Given the description of an element on the screen output the (x, y) to click on. 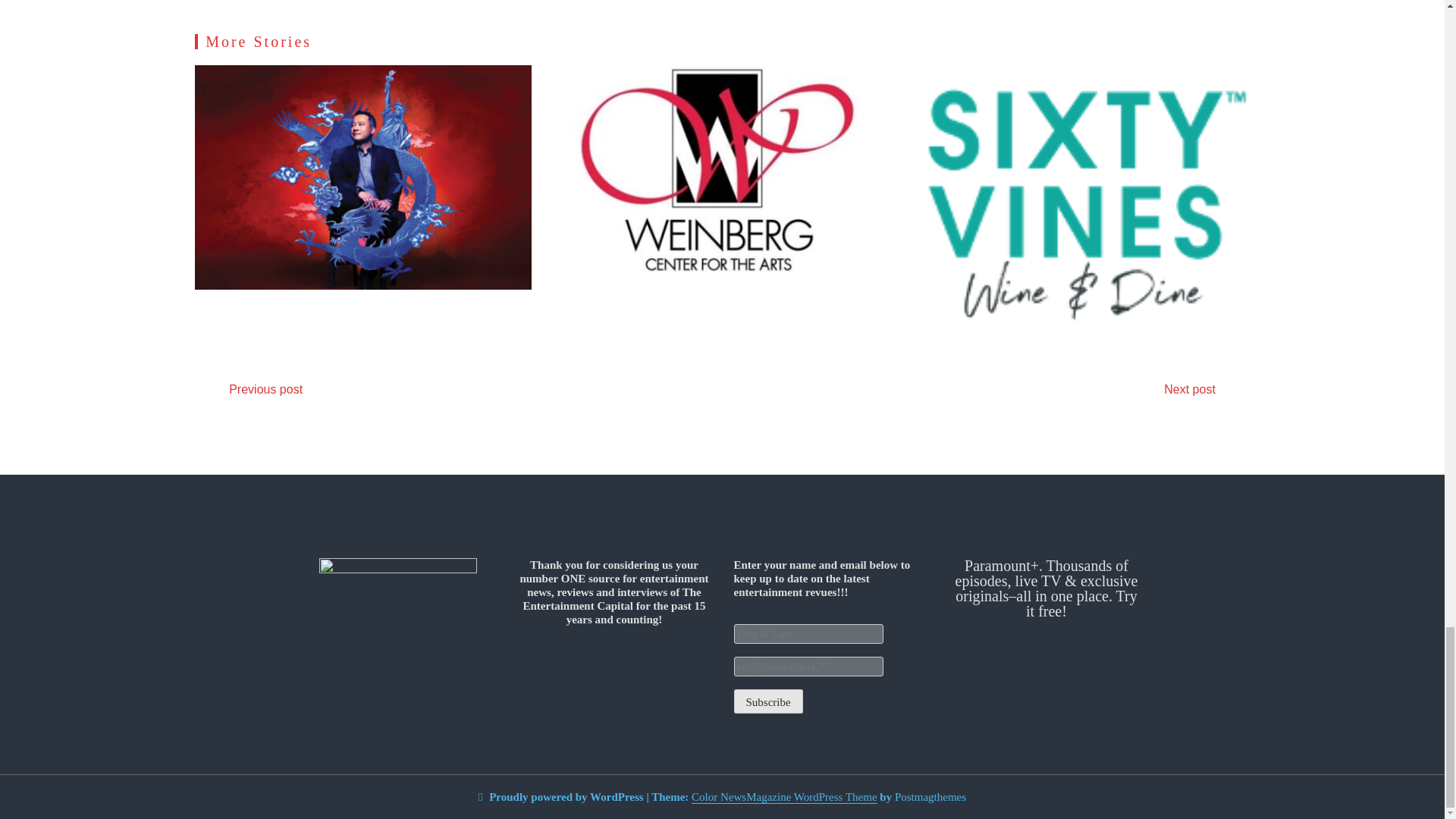
Subscribe (768, 701)
